Given the description of an element on the screen output the (x, y) to click on. 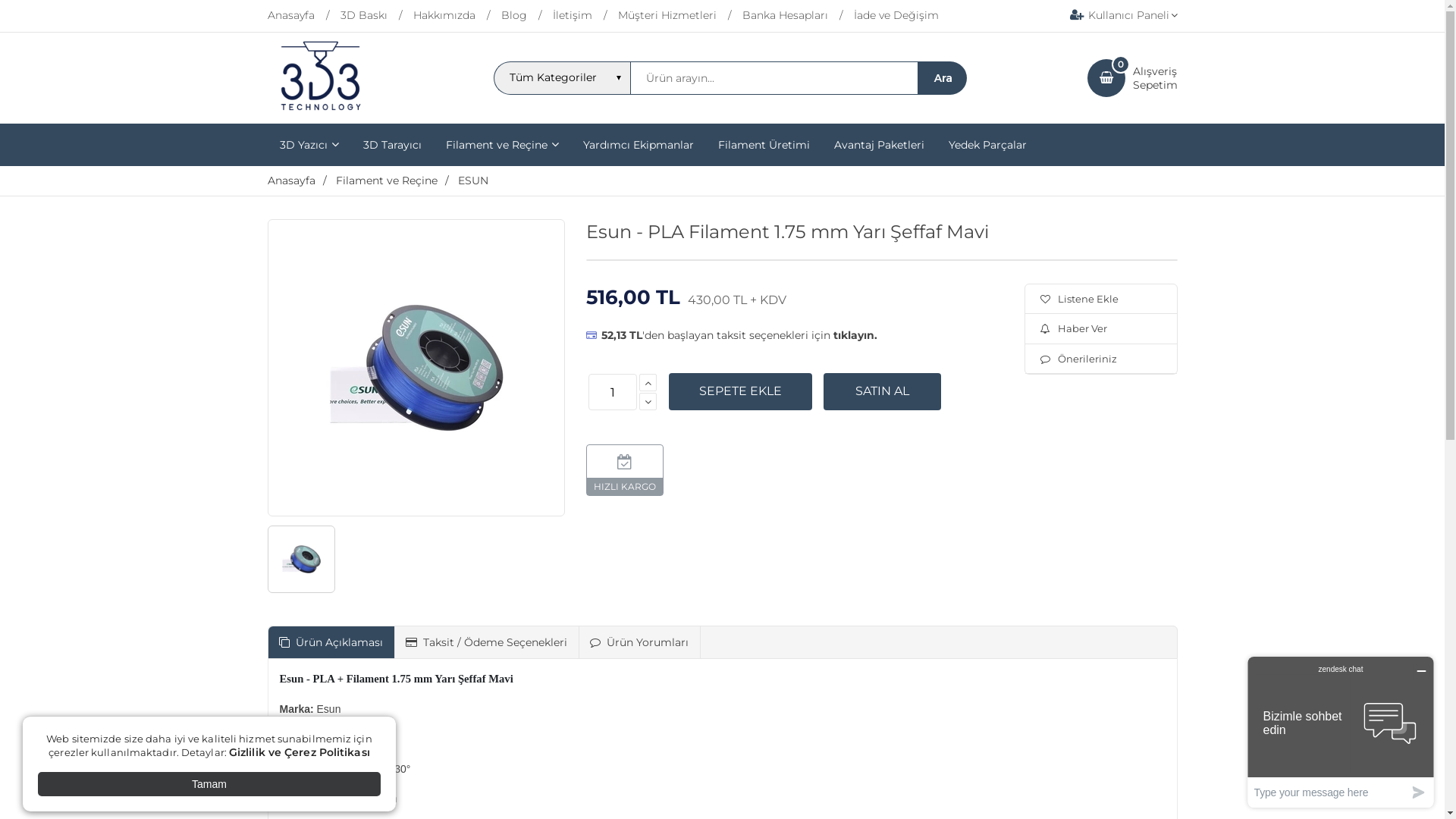
Tamam Element type: text (208, 783)
Haber Ver Element type: text (1100, 327)
Avantaj Paketleri Element type: text (879, 144)
ESUN Element type: text (473, 180)
Sepete Ekle Element type: hover (740, 391)
Anasayfa Element type: text (290, 180)
Blog Element type: text (526, 15)
Anasayfa Element type: text (302, 15)
Listene Ekle Element type: text (1100, 298)
Opens a widget where you can chat to one of our agents Element type: hover (1340, 731)
